Given the description of an element on the screen output the (x, y) to click on. 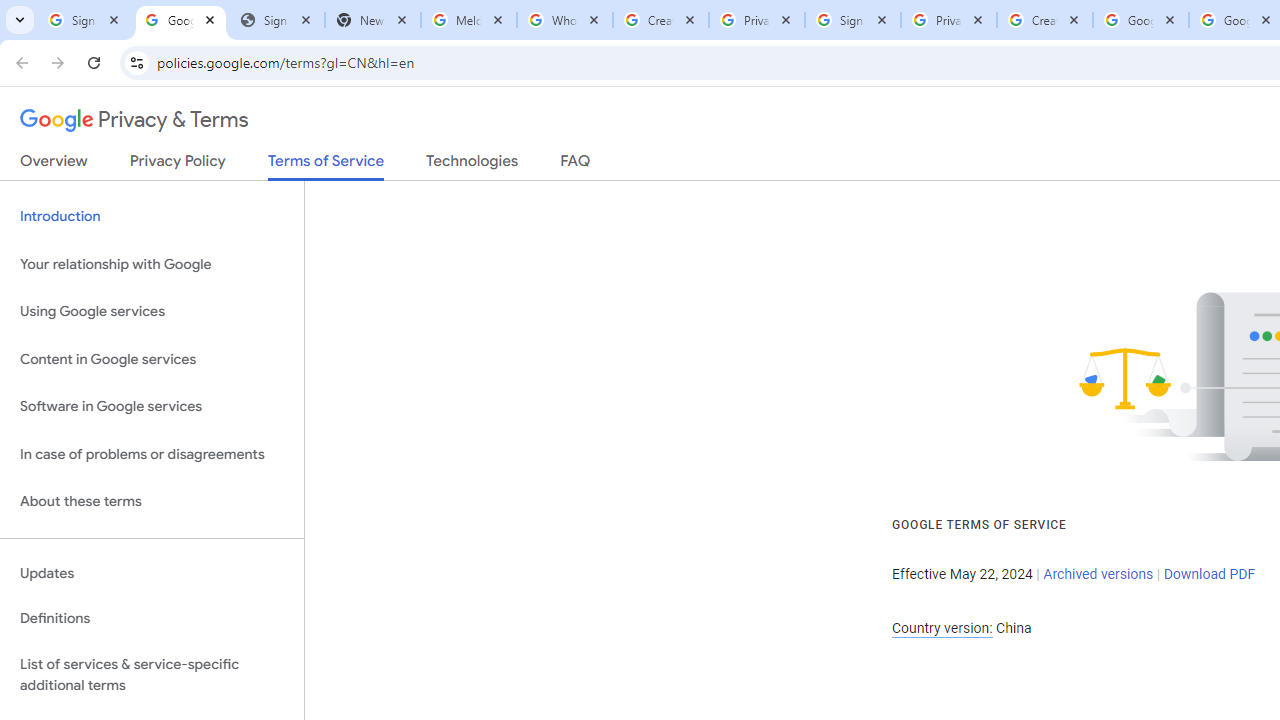
Overview (54, 165)
Technologies (472, 165)
Sign In - USA TODAY (277, 20)
View site information (136, 62)
Create your Google Account (661, 20)
Introduction (152, 216)
Software in Google services (152, 407)
Reload (93, 62)
Content in Google services (152, 358)
Country version: (942, 628)
Updates (152, 573)
System (10, 11)
Your relationship with Google (152, 263)
Forward (57, 62)
